Given the description of an element on the screen output the (x, y) to click on. 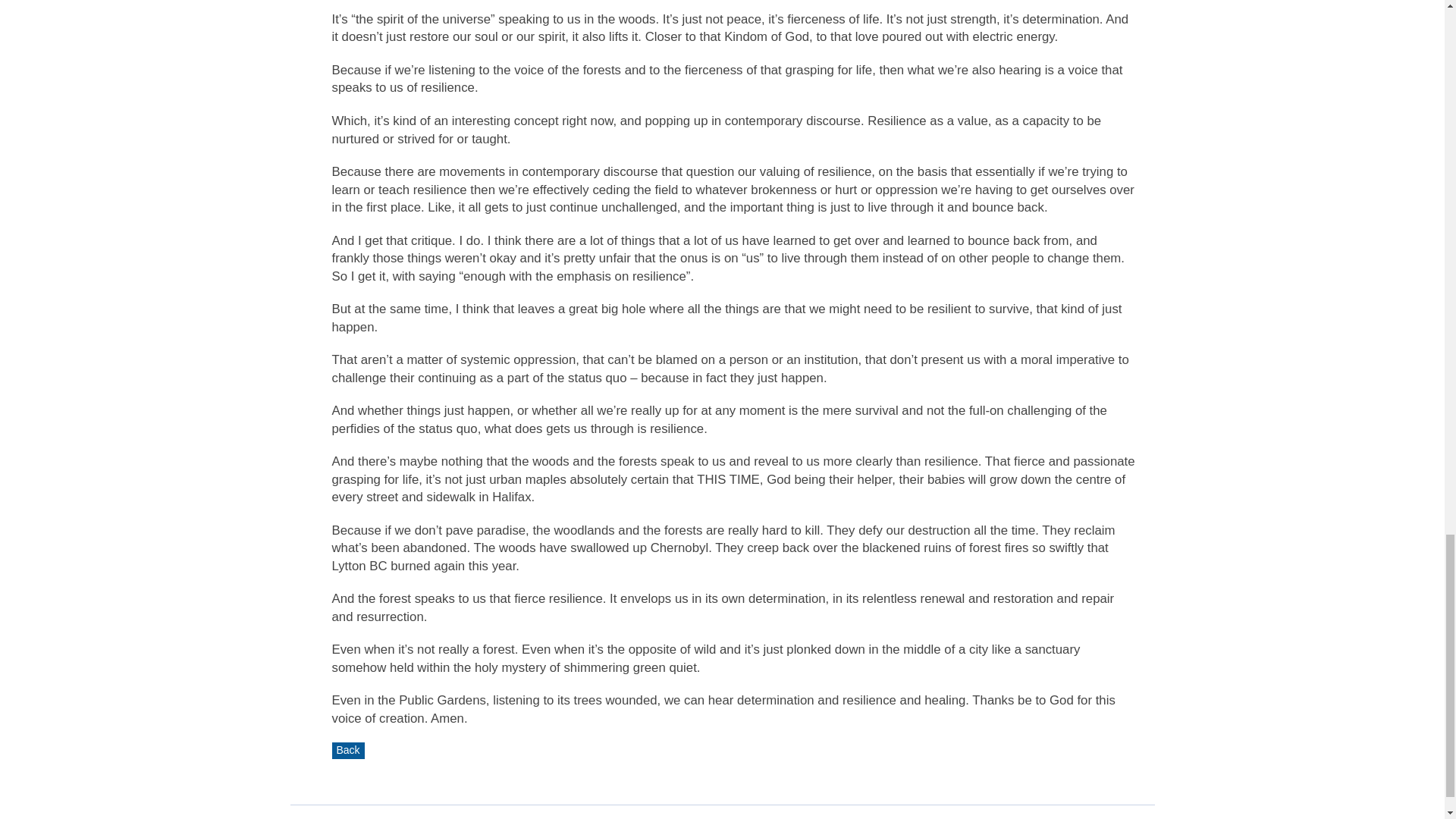
Back (348, 750)
